Given the description of an element on the screen output the (x, y) to click on. 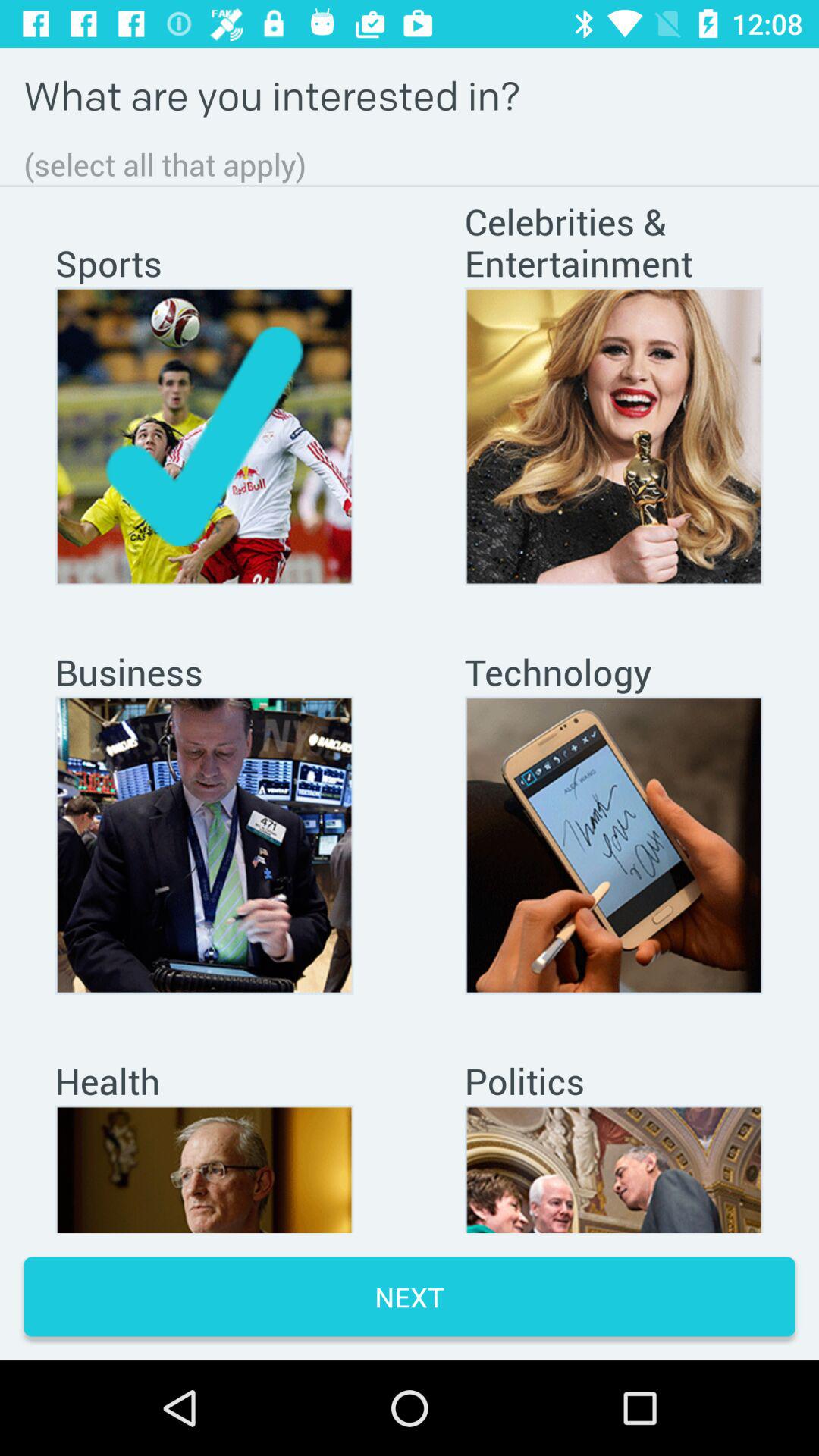
press the next button (409, 1296)
